Given the description of an element on the screen output the (x, y) to click on. 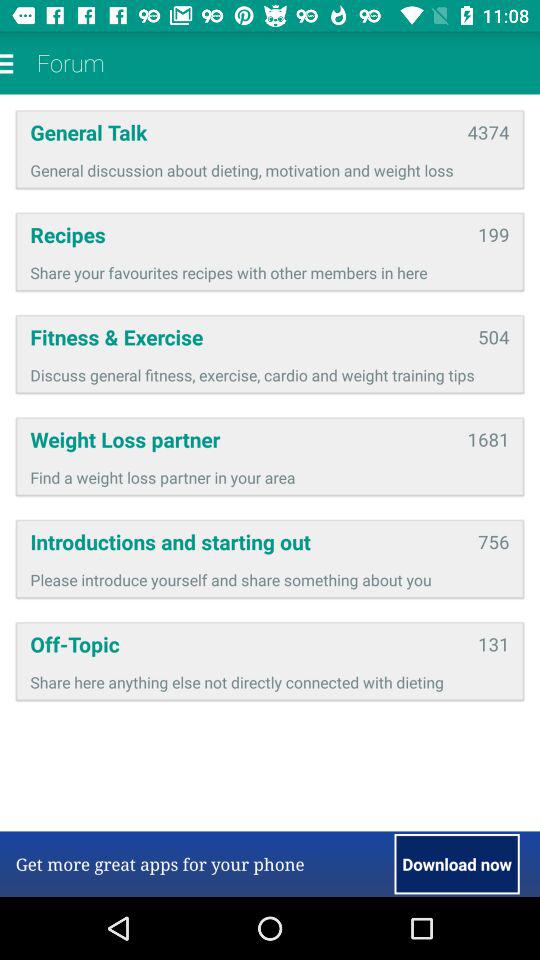
launch the app above the find a weight icon (488, 439)
